Given the description of an element on the screen output the (x, y) to click on. 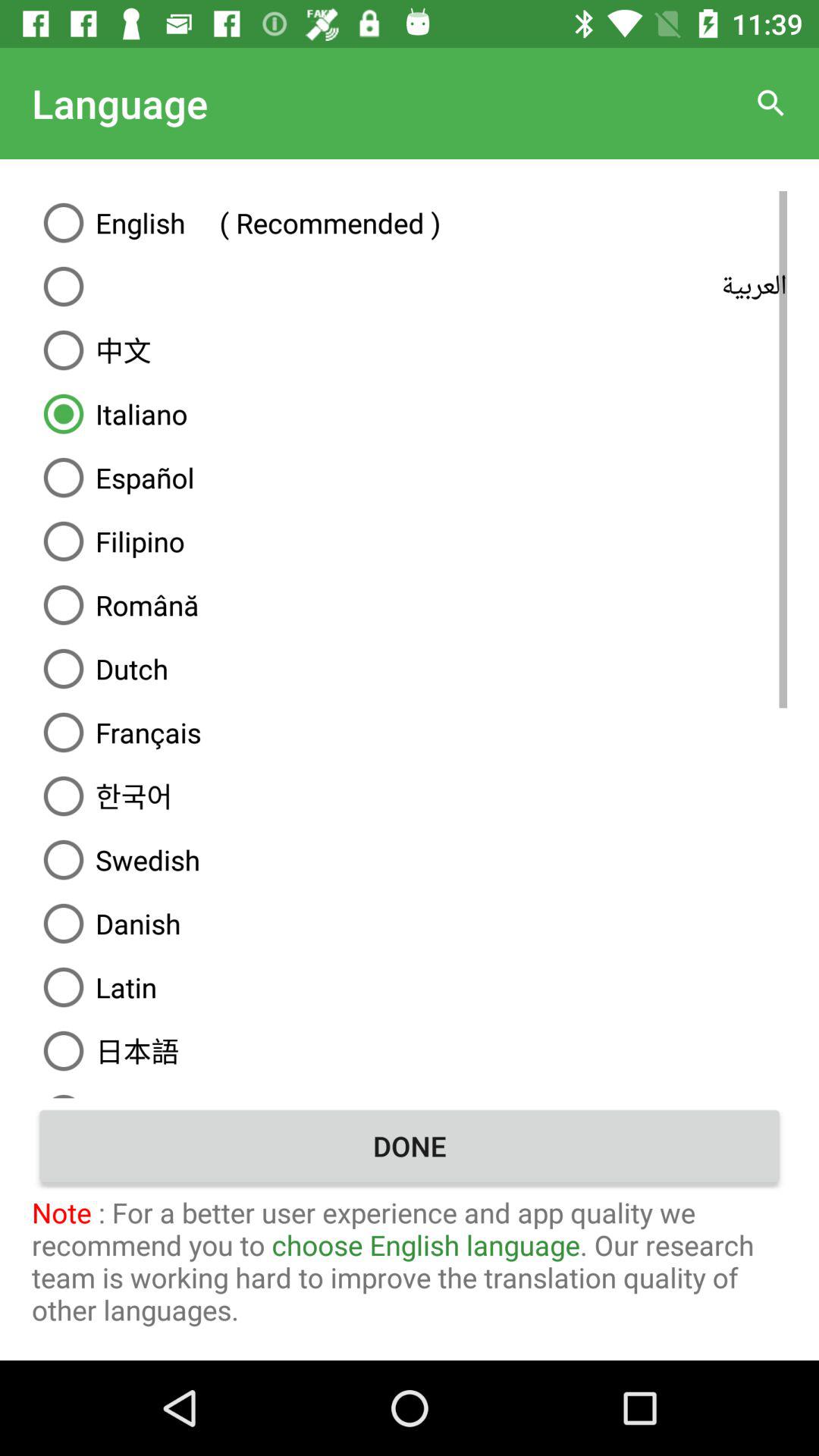
turn off english     ( recommended ) (409, 222)
